Given the description of an element on the screen output the (x, y) to click on. 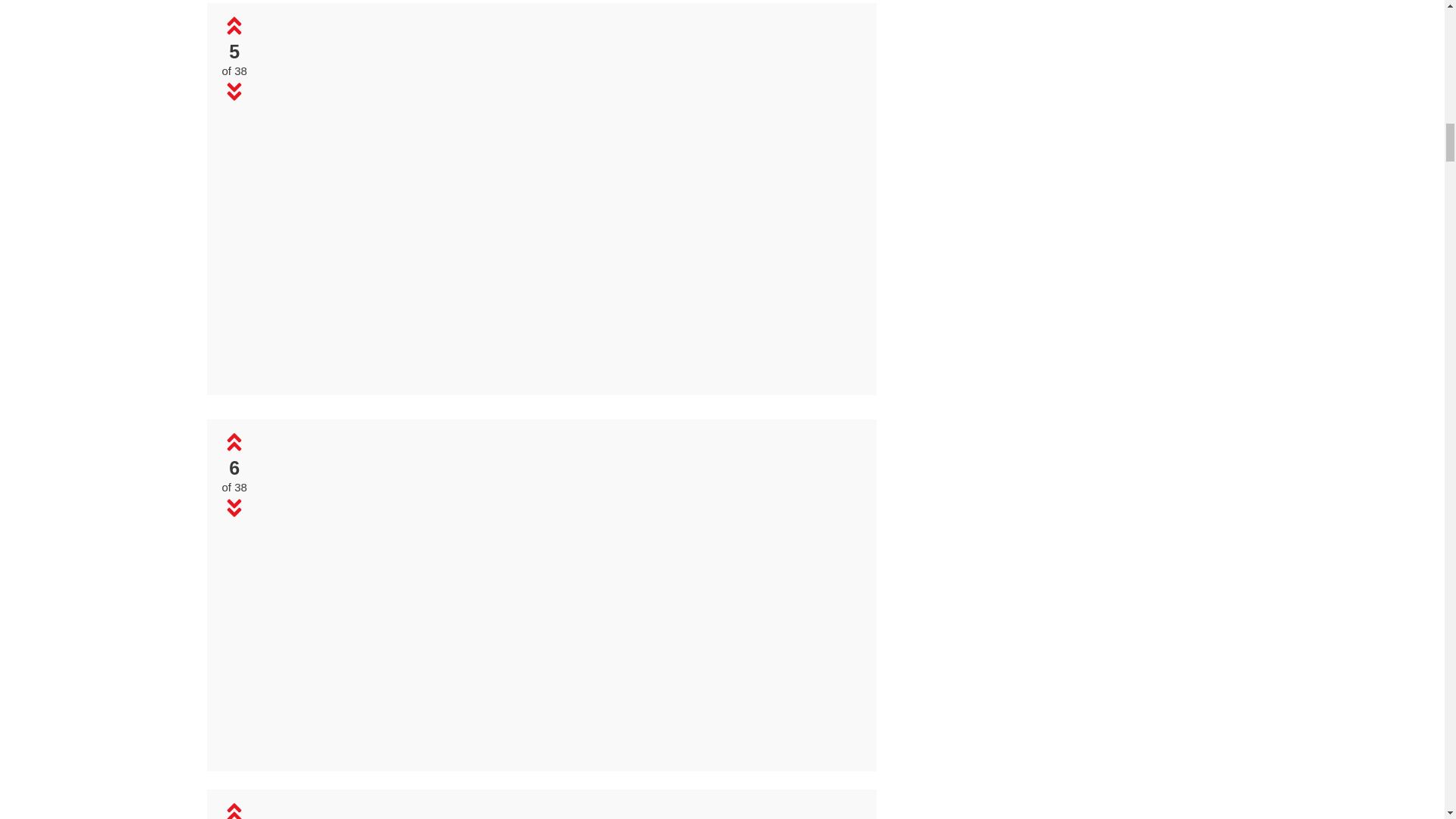
Stylish Men Looks With Jeans Suitable For Work (559, 196)
Stylish Men Looks With Jeans Suitable For Work (559, 749)
Stylish Men Looks With Jeans Suitable For Work (559, 373)
Stylish Men Looks With Jeans Suitable For Work (559, 592)
